Given the description of an element on the screen output the (x, y) to click on. 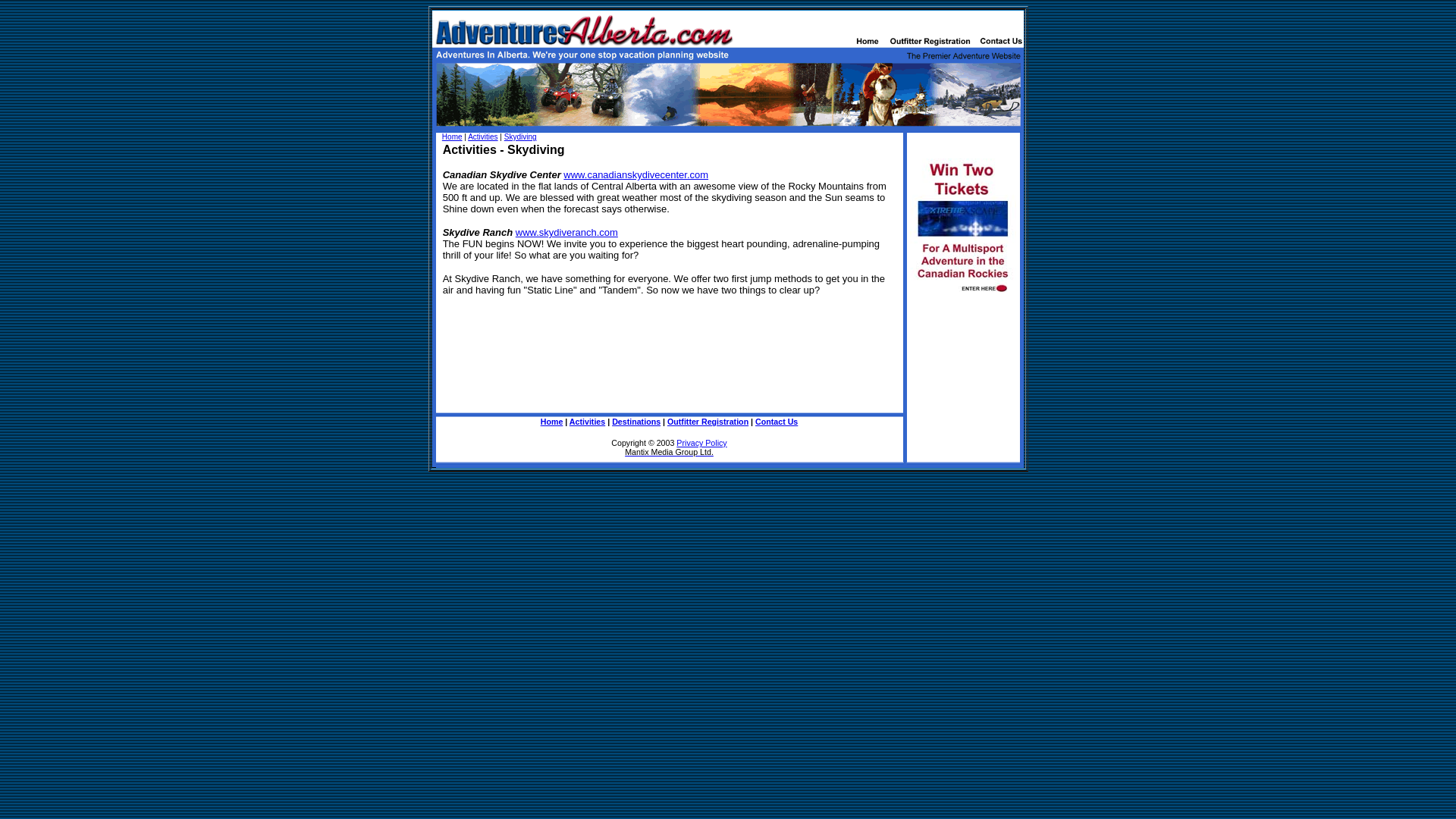
Mantix Media Group Ltd. (668, 451)
www.canadianskydivecenter.com (635, 174)
Destinations (636, 420)
Contact Us (776, 420)
www.skydiveranch.com (566, 232)
Outfitter Registration (707, 420)
Activities (482, 136)
Privacy Policy (701, 442)
Home (551, 420)
Home (452, 136)
Activities (587, 420)
Skydiving (520, 136)
